Given the description of an element on the screen output the (x, y) to click on. 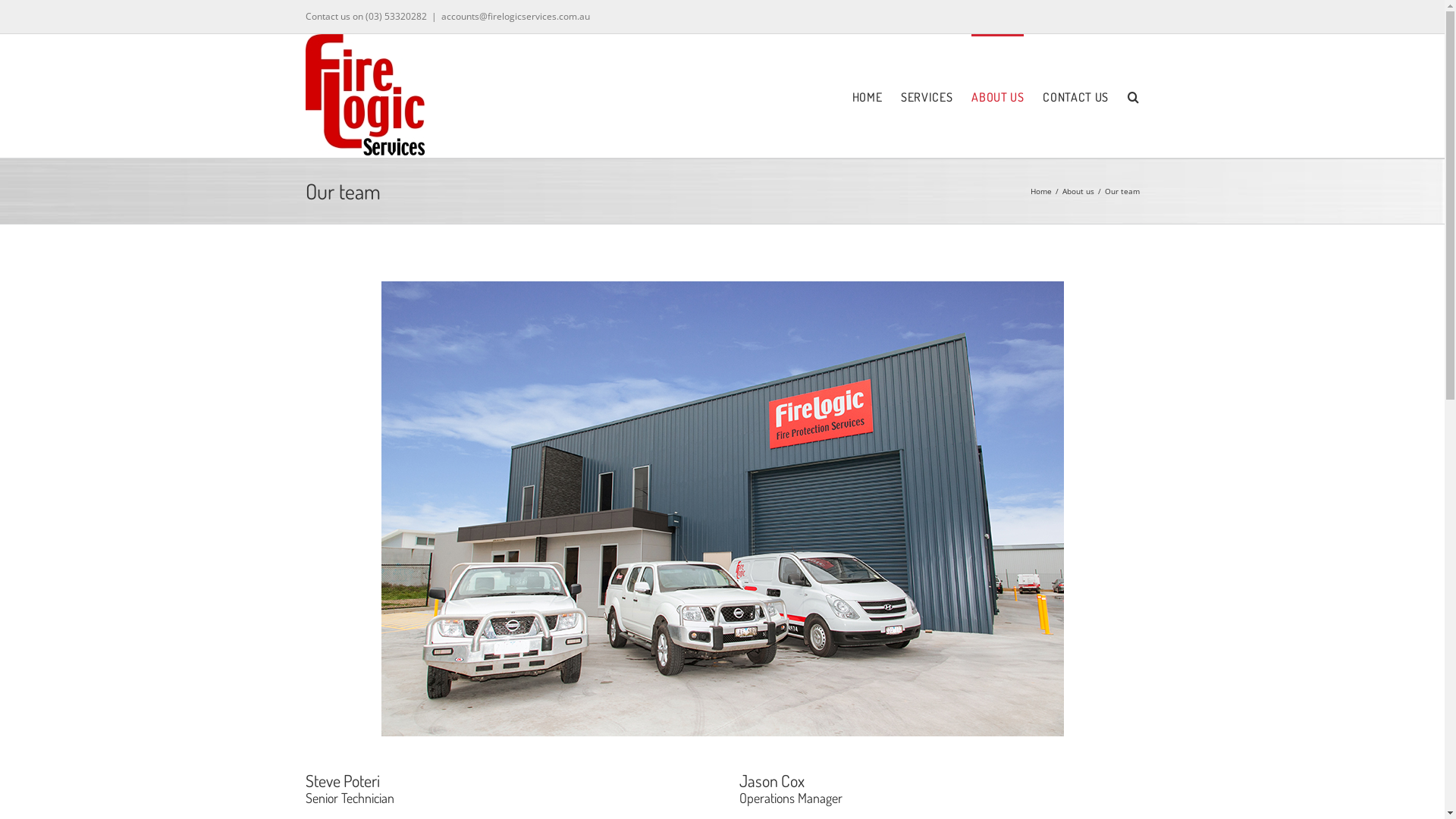
HOME Element type: text (867, 95)
SERVICES Element type: text (926, 95)
accounts@firelogicservices.com.au Element type: text (515, 15)
About us Element type: text (1077, 190)
ABOUT US Element type: text (997, 95)
IMG_9079-600h Element type: hover (721, 508)
CONTACT US Element type: text (1074, 95)
Home Element type: text (1040, 190)
